Given the description of an element on the screen output the (x, y) to click on. 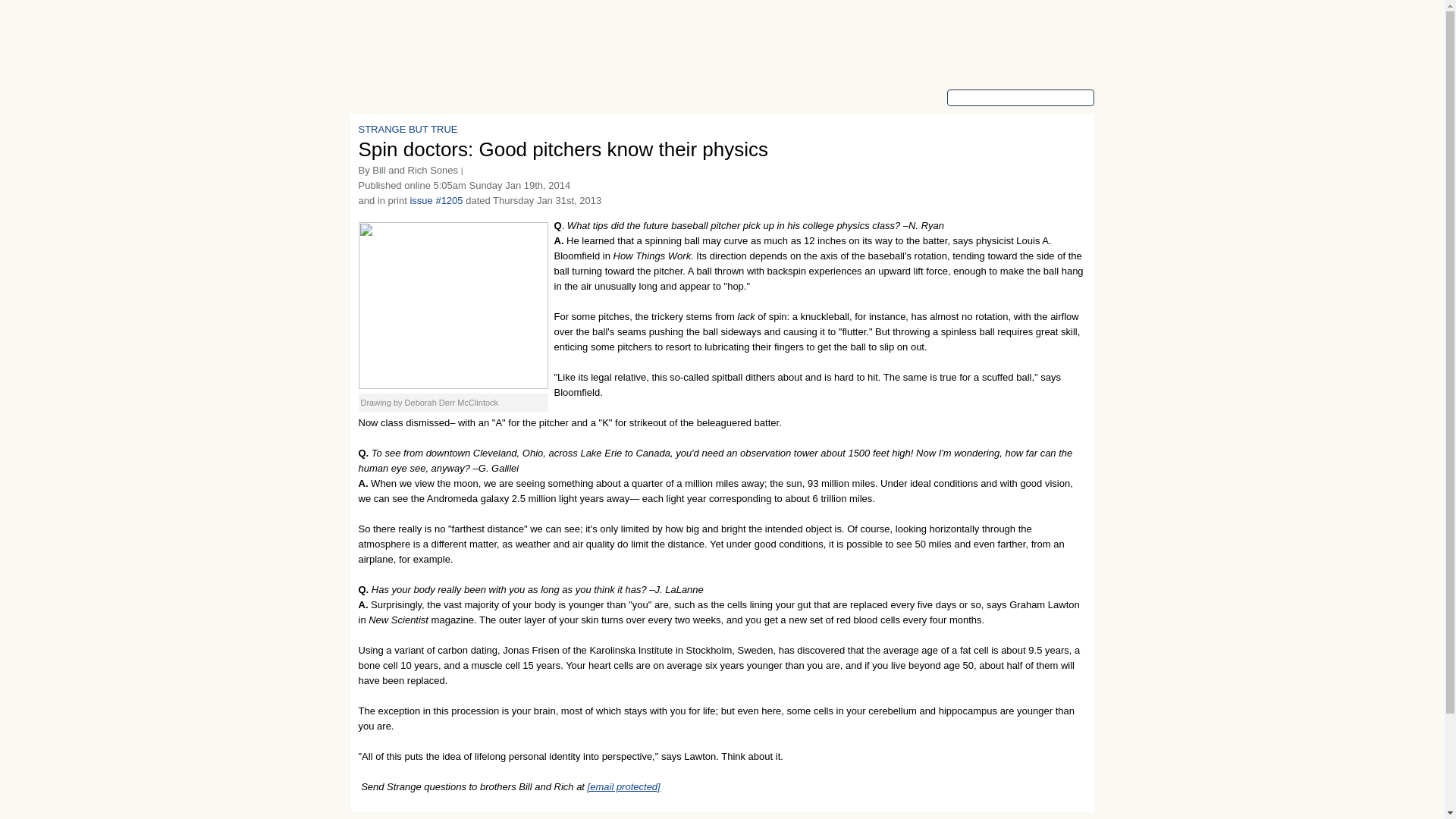
Search (1082, 102)
Search (1082, 102)
STRANGE BUT TRUE (407, 129)
The Hook - Charlottesville's weekly newspaper, news magazine (397, 43)
Enter the terms you wish to search for. (1019, 97)
